Given the description of an element on the screen output the (x, y) to click on. 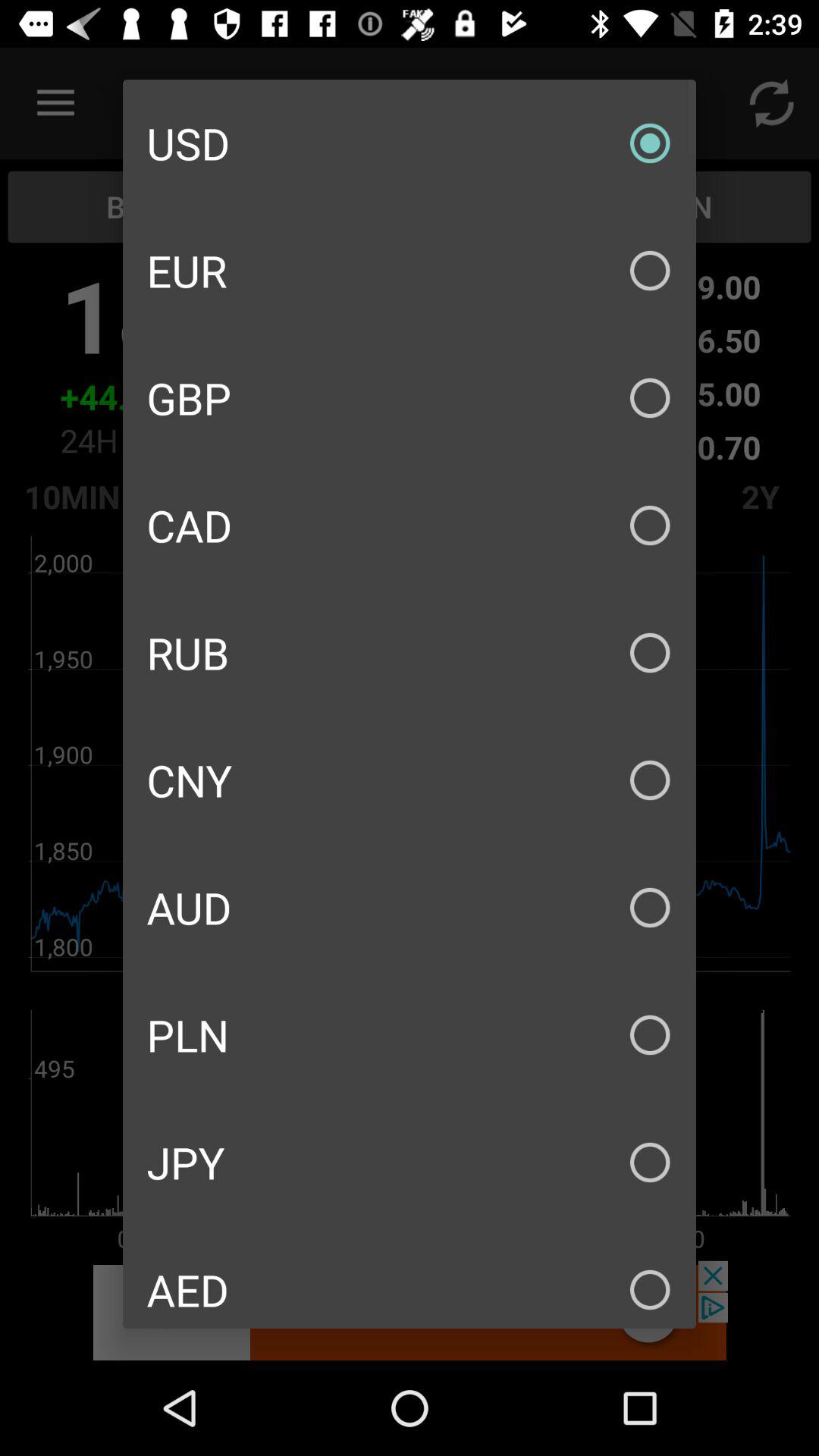
choose icon above cny item (409, 652)
